Given the description of an element on the screen output the (x, y) to click on. 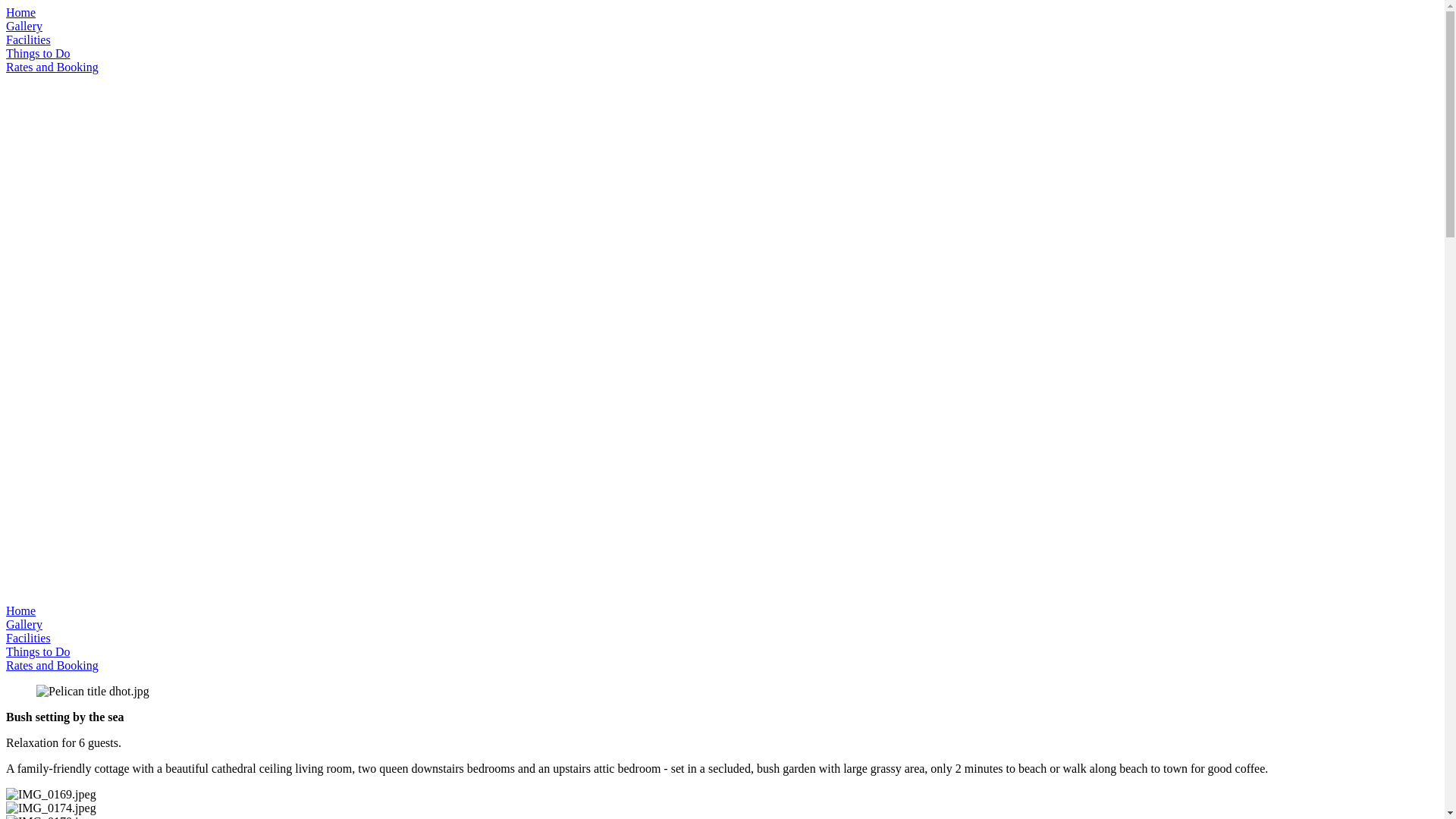
Home Element type: text (20, 610)
Facilities Element type: text (28, 39)
Things to Do Element type: text (37, 53)
Home Element type: text (20, 12)
Things to Do Element type: text (37, 651)
Gallery Element type: text (24, 624)
Rates and Booking Element type: text (52, 664)
Facilities Element type: text (28, 637)
Rates and Booking Element type: text (52, 66)
Gallery Element type: text (24, 25)
